Given the description of an element on the screen output the (x, y) to click on. 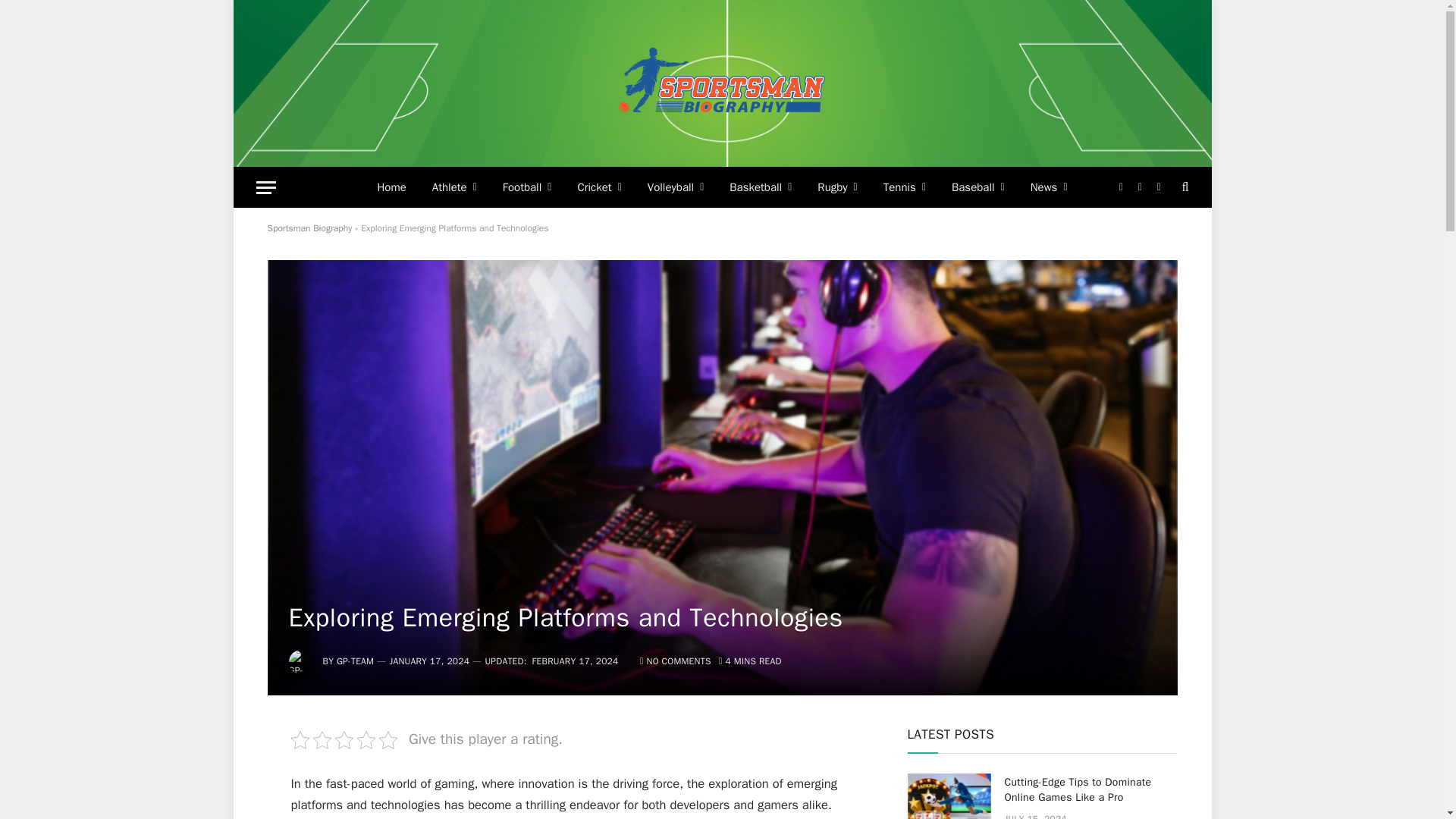
Sportsman Biography (721, 82)
Home (391, 187)
Athlete (454, 187)
